Given the description of an element on the screen output the (x, y) to click on. 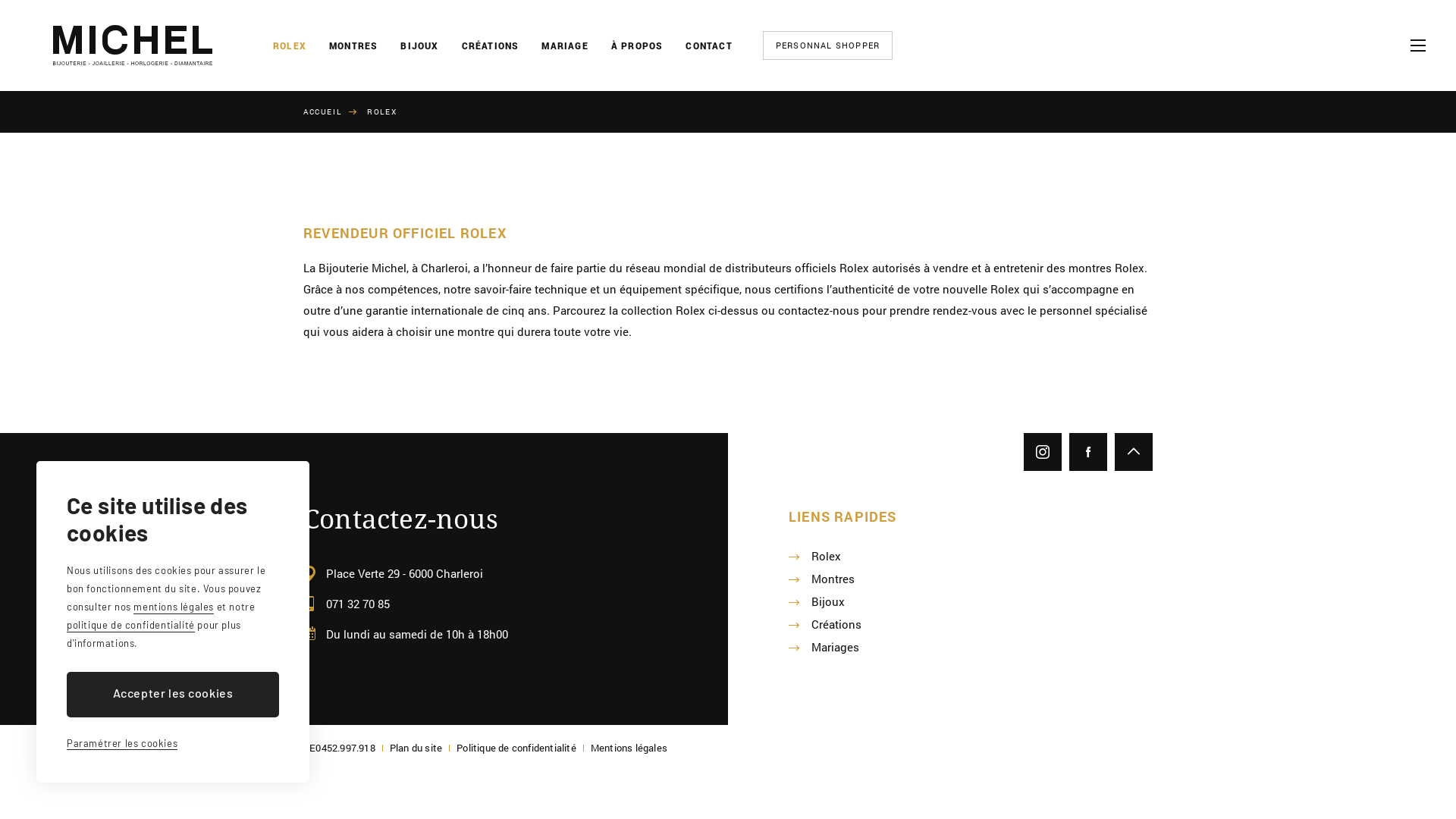
Remonter Element type: text (1133, 451)
Instagram Element type: text (1042, 451)
MARIAGE Element type: text (564, 45)
ROLEX Element type: text (289, 45)
CONTACT Element type: text (708, 45)
MONTRES Element type: text (353, 45)
Rolex Element type: text (825, 555)
ACCUEIL Element type: text (333, 111)
Mariages Element type: text (835, 646)
Bijouterie Michel Element type: hover (132, 45)
Montres Element type: text (832, 578)
Facebook Element type: text (1088, 451)
Plan du site Element type: text (415, 747)
Bijoux Element type: text (827, 600)
071 32 70 85 Element type: text (357, 603)
ROLEX Element type: text (381, 111)
PERSONNAL SHOPPER Element type: text (827, 45)
BIJOUX Element type: text (419, 45)
